Given the description of an element on the screen output the (x, y) to click on. 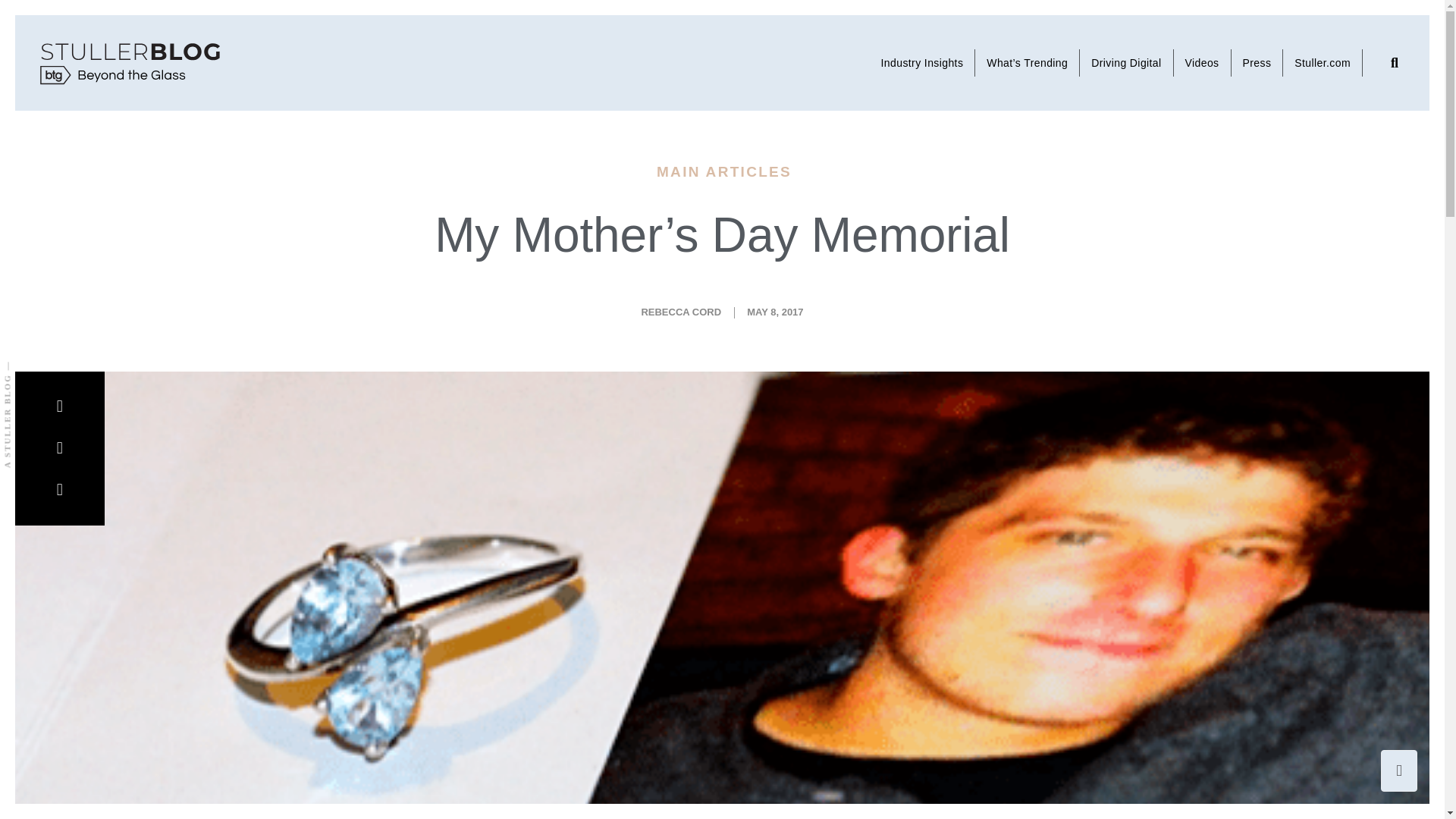
MAIN ARTICLES (724, 171)
Press (1257, 13)
Driving Digital (1126, 6)
MAY 8, 2017 (774, 312)
REBECCA CORD (680, 312)
Stuller.com (1322, 17)
Videos (1202, 9)
